Given the description of an element on the screen output the (x, y) to click on. 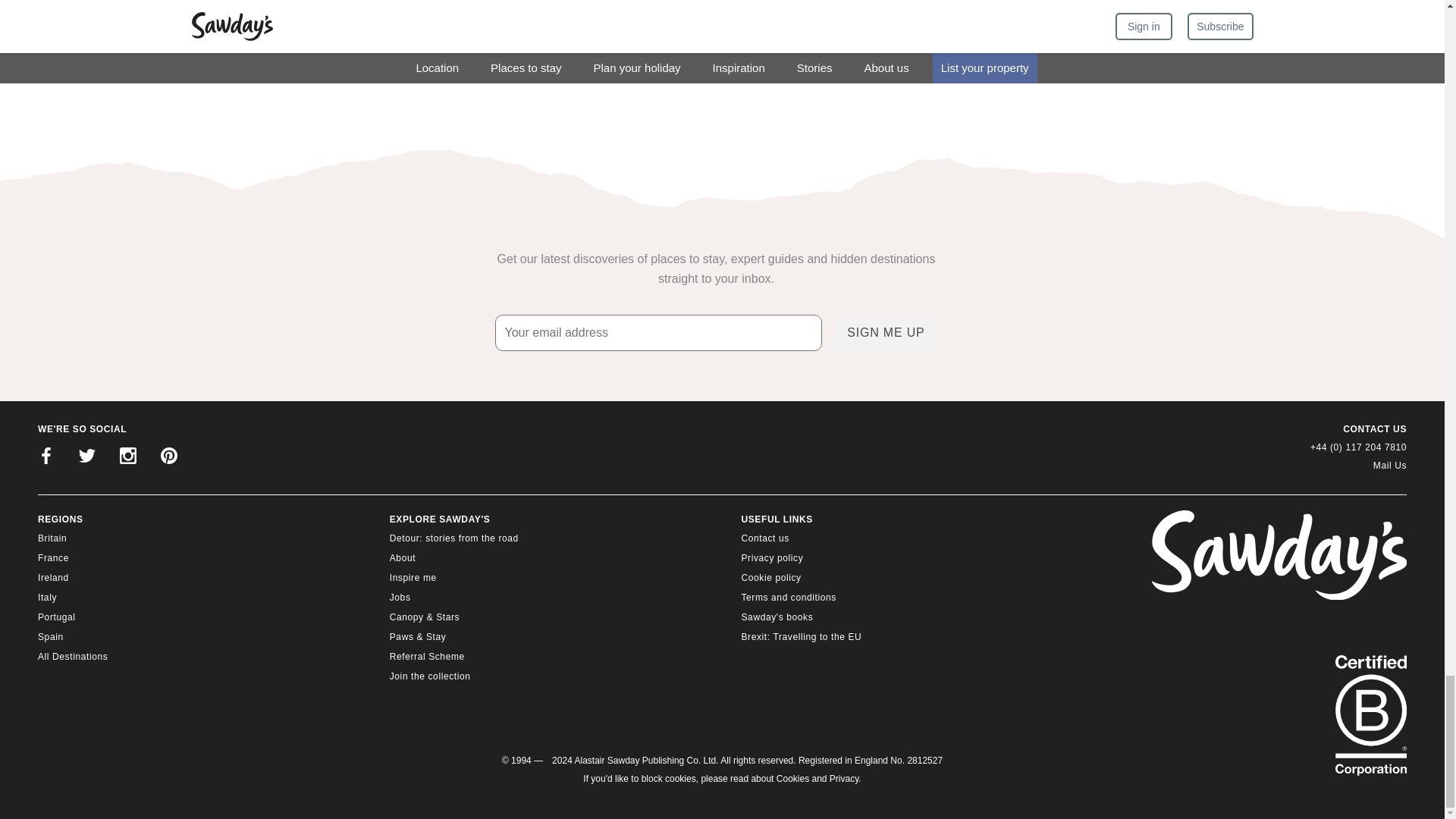
Twitter (86, 457)
Instagram (127, 457)
SIGN ME UP (885, 332)
Pinterest (168, 457)
Facebook (46, 457)
